Given the description of an element on the screen output the (x, y) to click on. 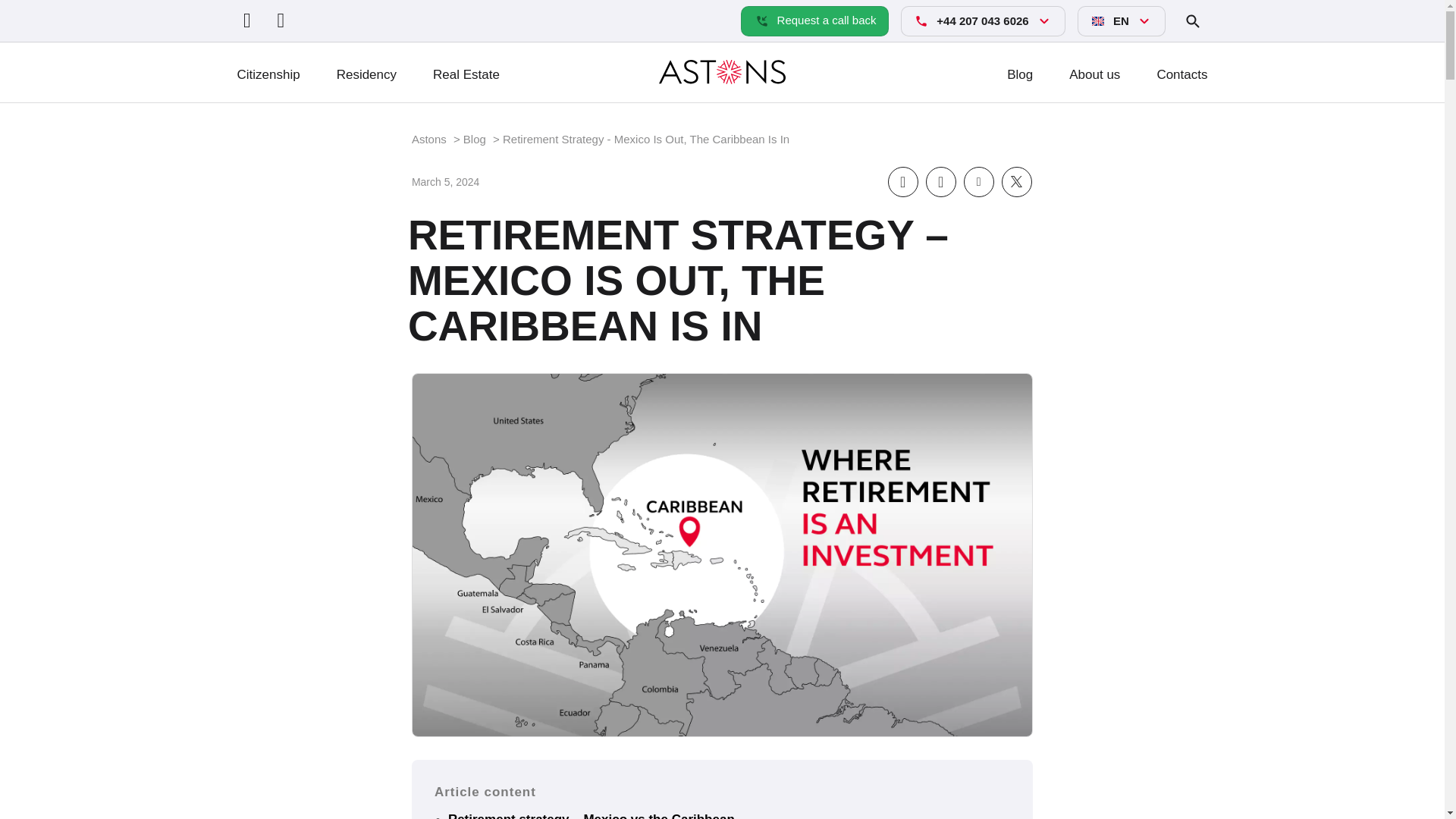
Residency (366, 74)
Citizenship (267, 74)
Request a call back (814, 20)
Real Estate (465, 74)
